Given the description of an element on the screen output the (x, y) to click on. 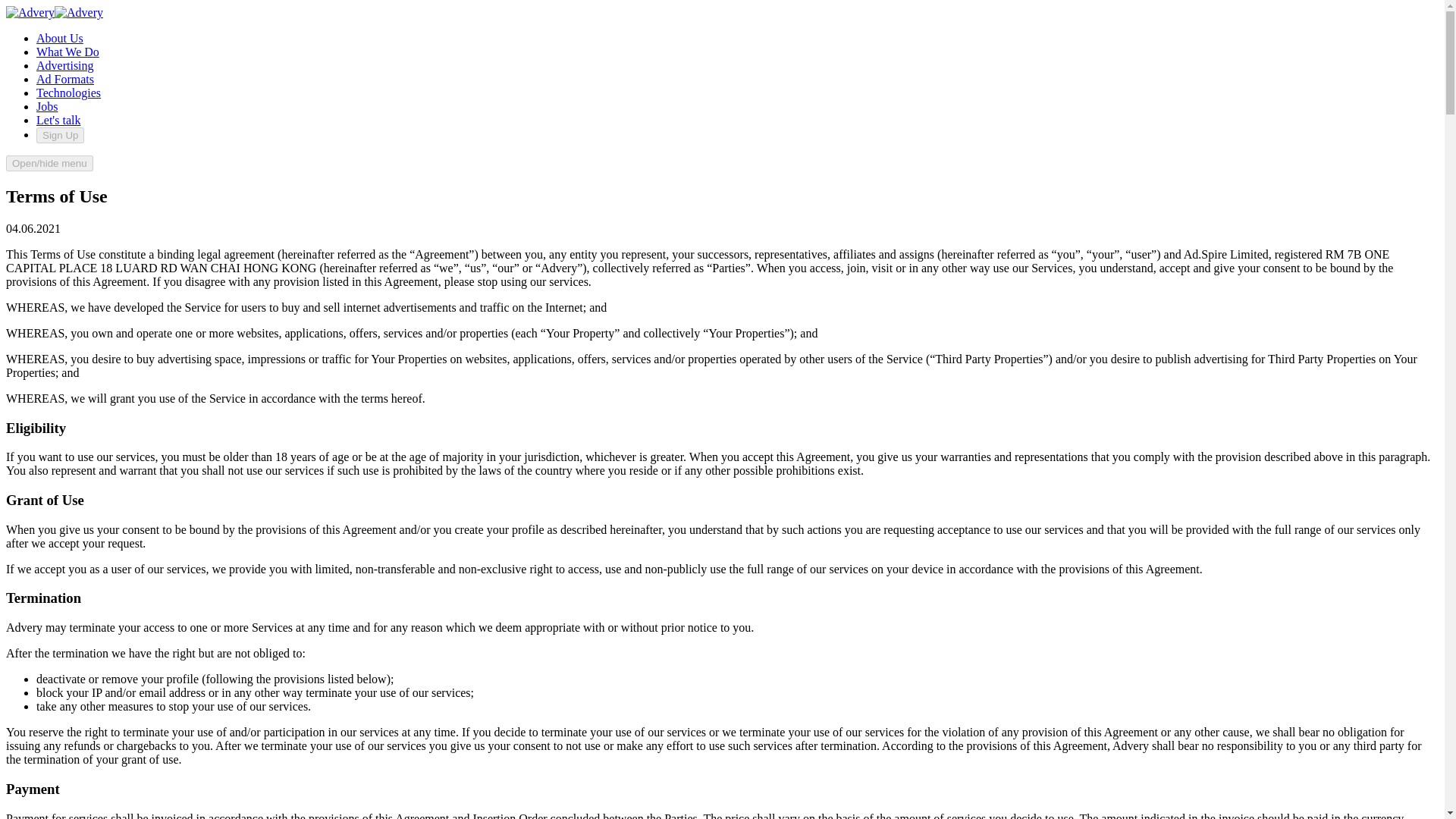
Jobs (47, 106)
Ad Formats (65, 78)
Advertising (65, 65)
Sign Up (60, 135)
Let's talk (58, 119)
About Us (59, 38)
What We Do (67, 51)
Technologies (68, 92)
